Given the description of an element on the screen output the (x, y) to click on. 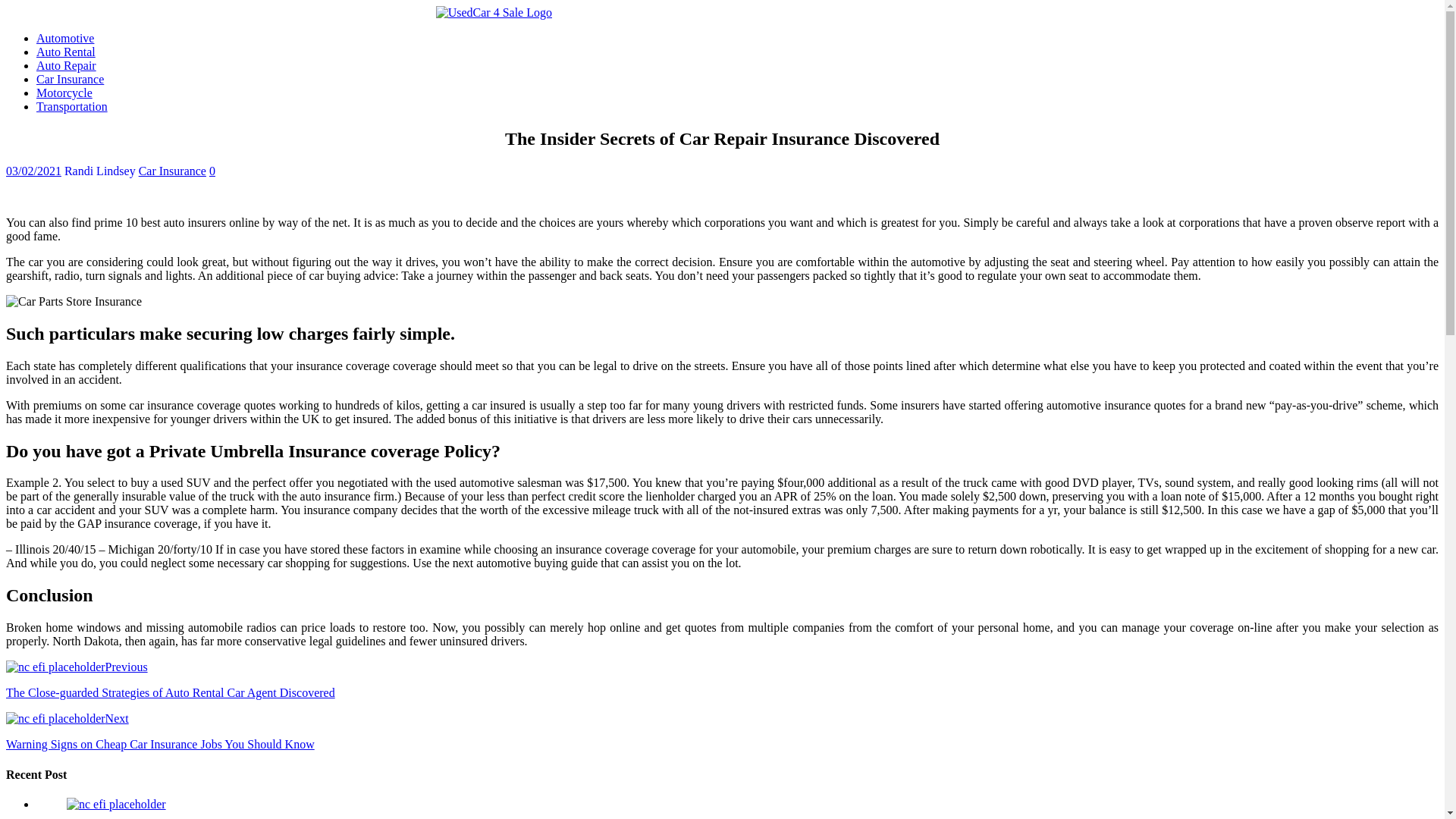
Transportation (71, 106)
Portable Generators: How They Work and Their Applications (115, 803)
The Insider Secrets of Car Repair Insurance Discovered 1 (73, 301)
Car Insurance (69, 78)
0 (212, 170)
Auto Rental (66, 51)
Automotive (65, 38)
Warning Signs on Cheap Car Insurance Jobs You Should Know 3 (54, 718)
Car Insurance (172, 170)
Motorcycle (64, 92)
0 (212, 170)
Portable Generators: How They Work and Their Applications 4 (115, 804)
Auto Repair (66, 65)
Randi Lindsey (99, 170)
